Given the description of an element on the screen output the (x, y) to click on. 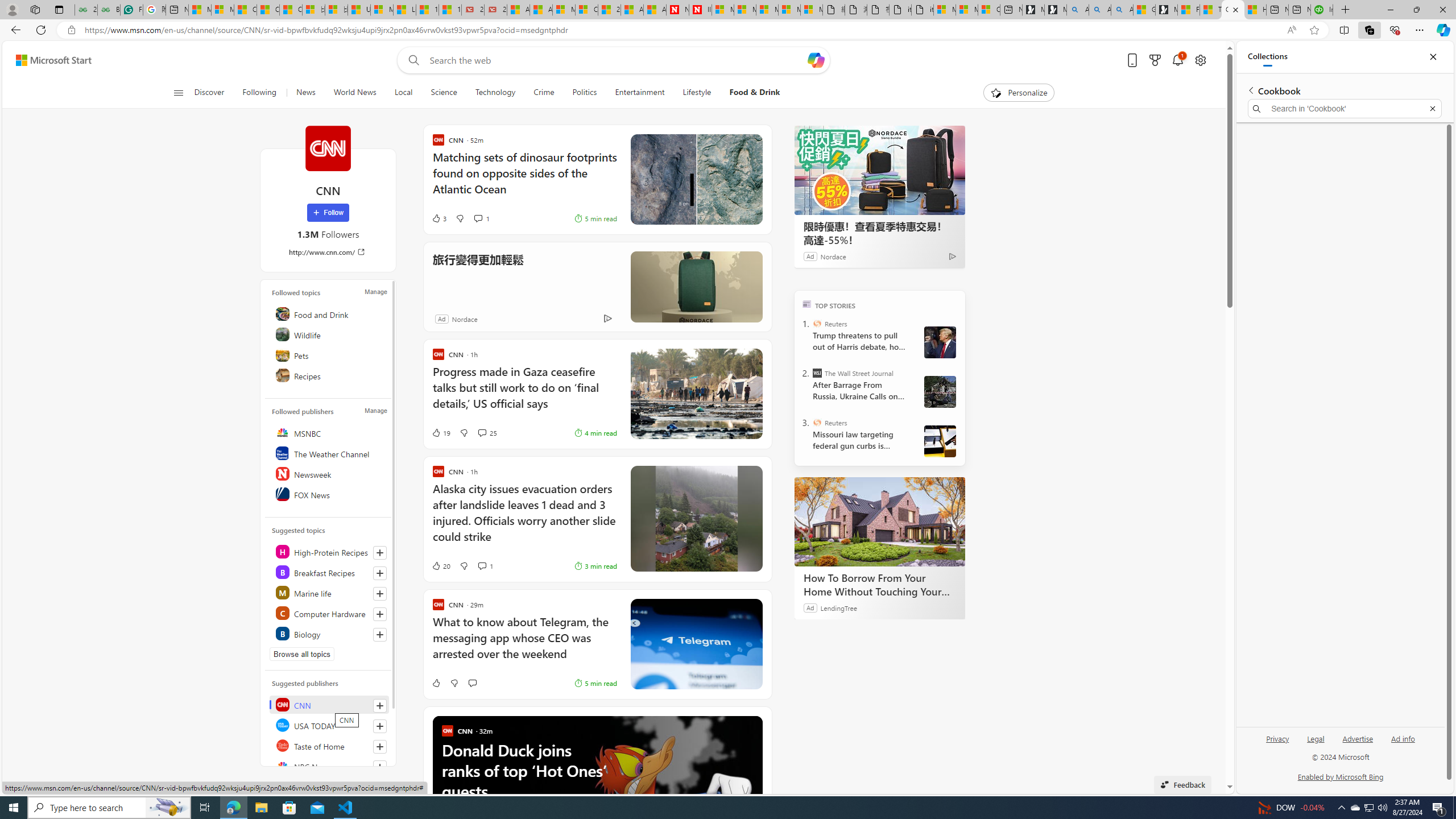
Ad info (1402, 742)
Privacy (1278, 738)
Newsweek (328, 473)
Back to list of collections (1250, 90)
Food and Drink (328, 313)
Open navigation menu (177, 92)
Intuit QuickBooks Online - Quickbooks (1322, 9)
Class: highlight (328, 633)
